Given the description of an element on the screen output the (x, y) to click on. 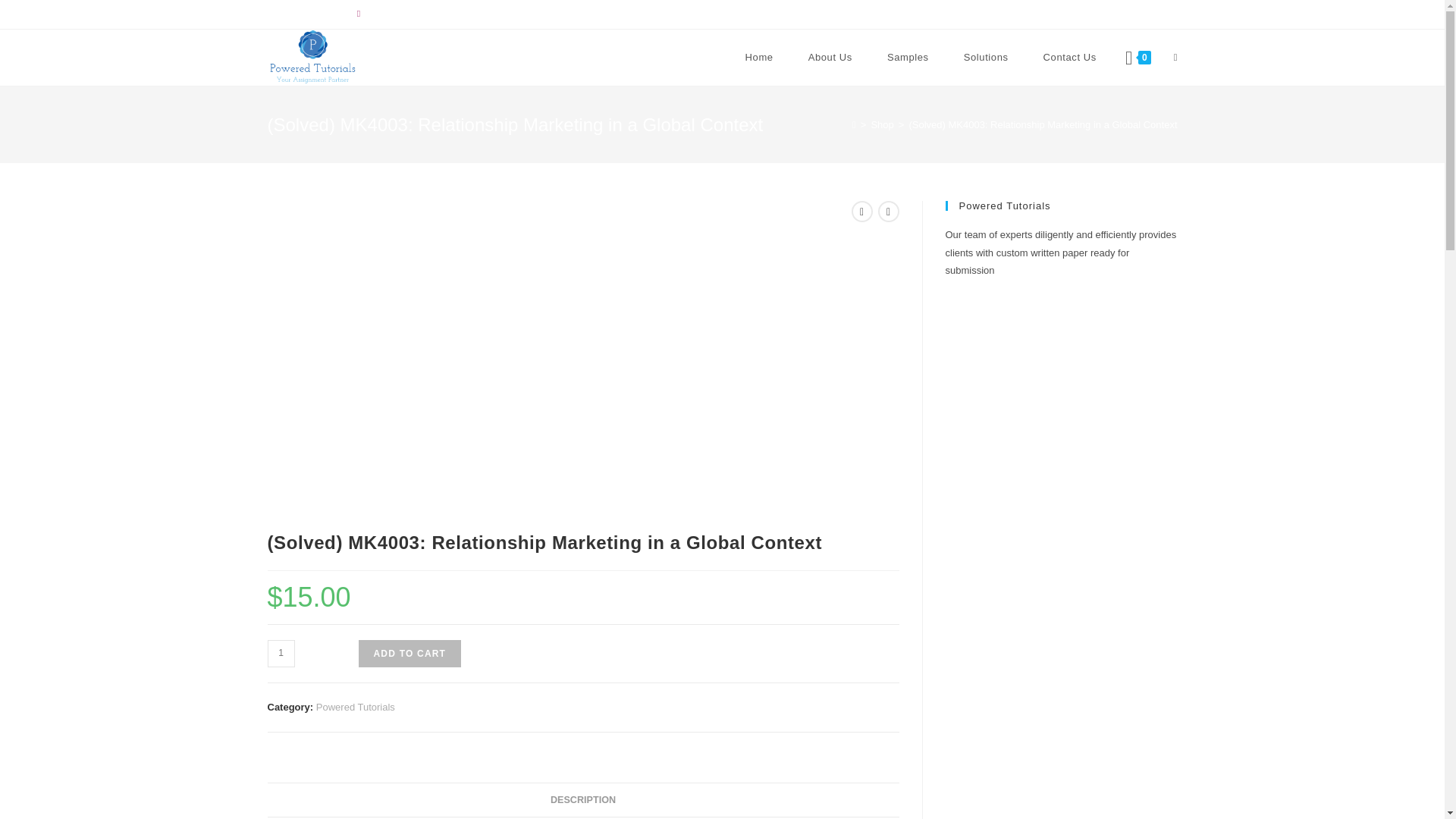
Samples (907, 57)
363 (1104, 24)
Track Assignment (302, 13)
DESCRIPTION (583, 800)
About Us (829, 57)
Contact Us (1069, 57)
ADD TO CART (409, 653)
Solutions (986, 57)
Shop (881, 124)
Home (759, 57)
